Given the description of an element on the screen output the (x, y) to click on. 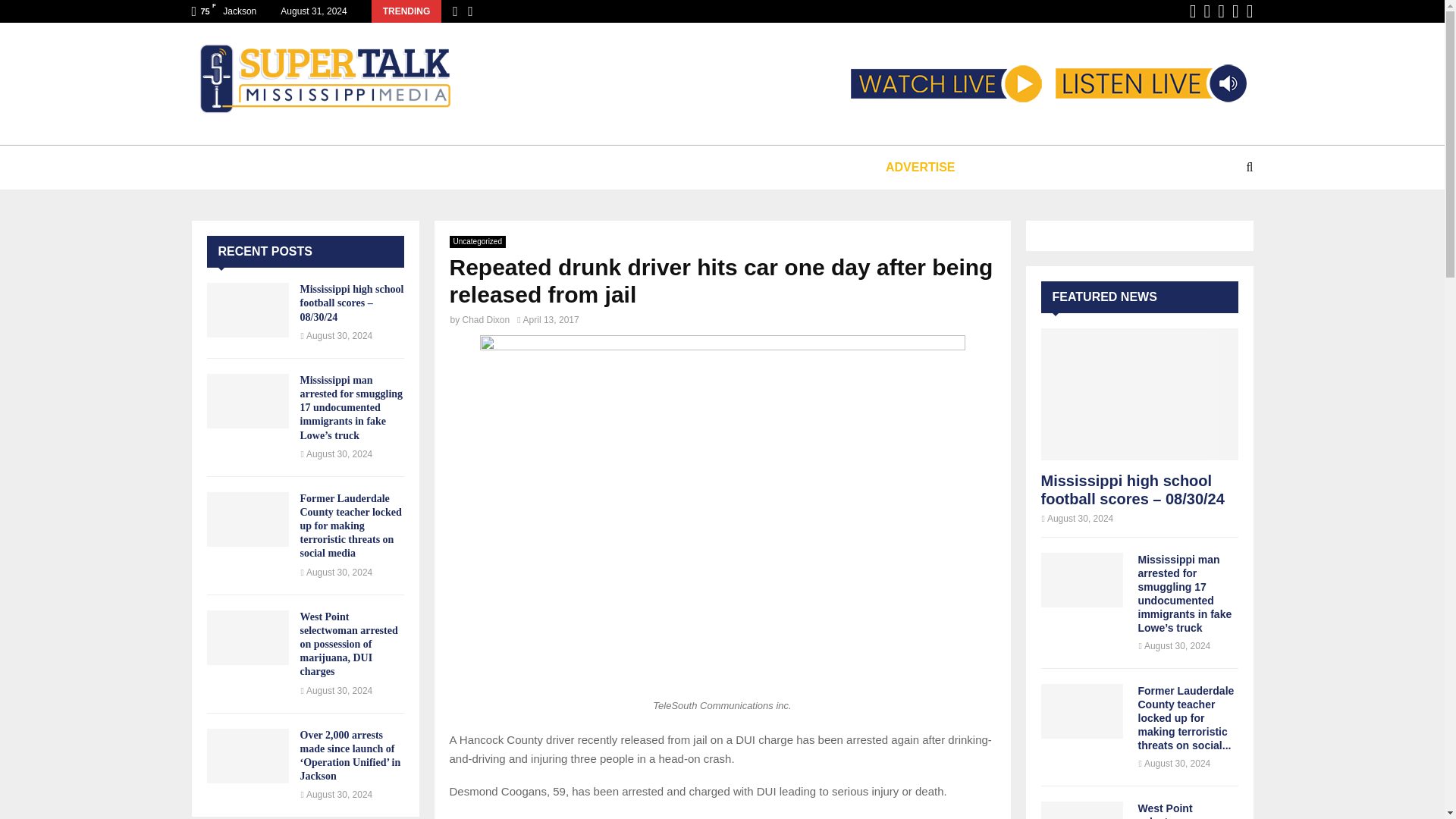
SHOWS (430, 167)
STATIONS (345, 167)
TUNE IN (255, 167)
